Given the description of an element on the screen output the (x, y) to click on. 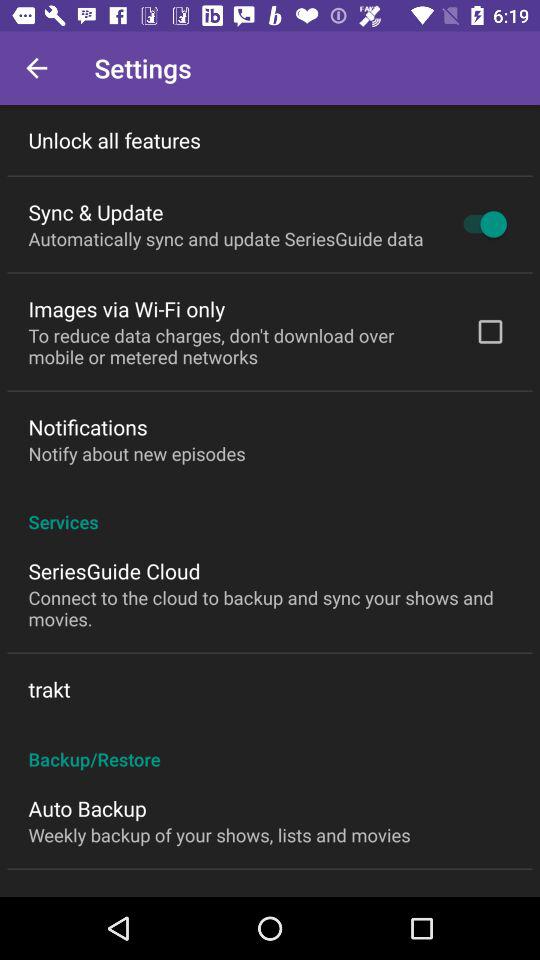
select the icon above connect to the item (114, 570)
